Given the description of an element on the screen output the (x, y) to click on. 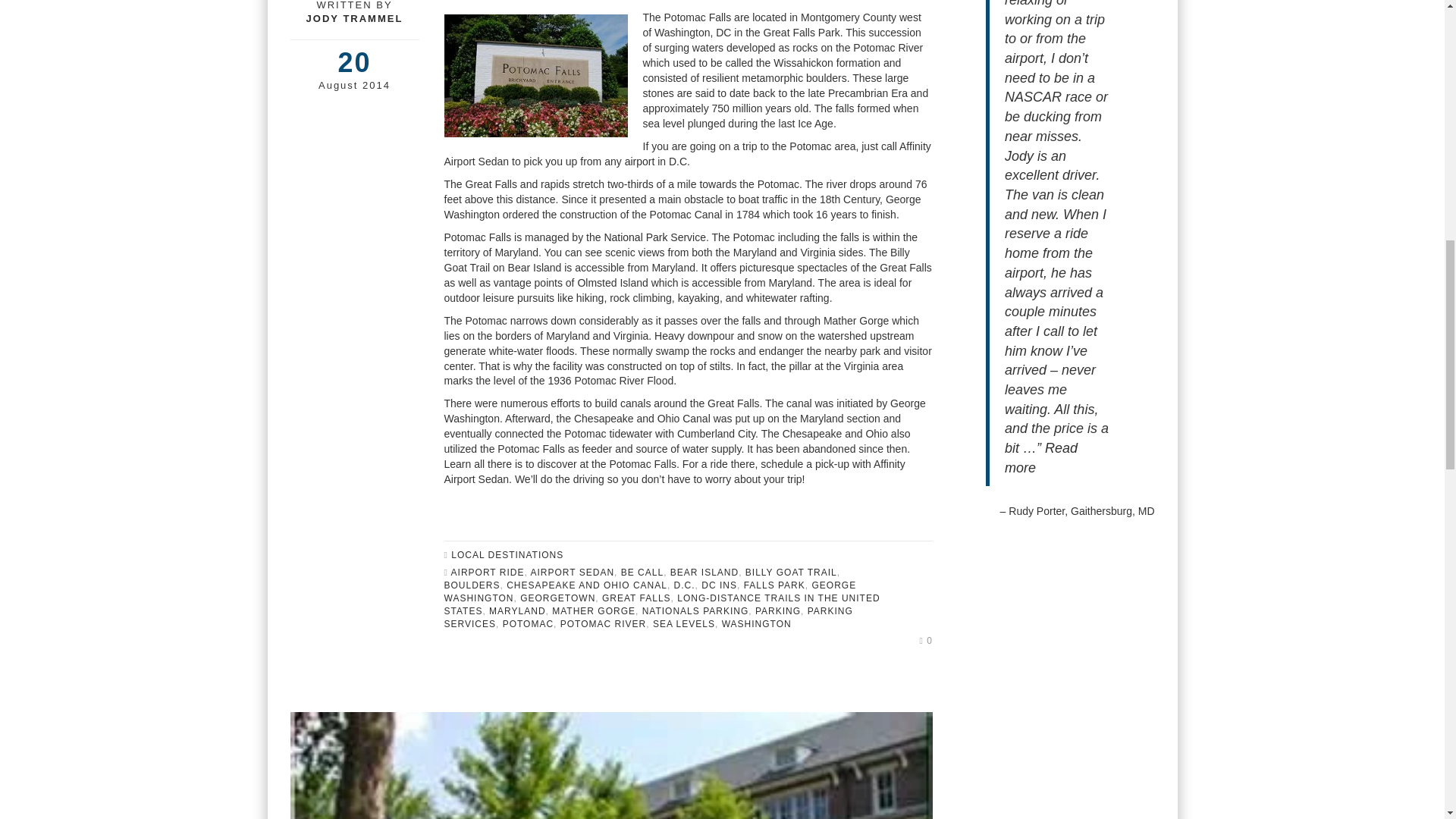
AIRPORT SEDAN (572, 572)
GREAT FALLS (636, 597)
PARKING SERVICES (648, 617)
CHESAPEAKE AND OHIO CANAL (586, 584)
AIRPORT RIDE (487, 572)
MARYLAND (516, 611)
MATHER GORGE (592, 611)
LONG-DISTANCE TRAILS IN THE UNITED STATES (662, 604)
GEORGE WASHINGTON (650, 591)
airport (639, 161)
